Given the description of an element on the screen output the (x, y) to click on. 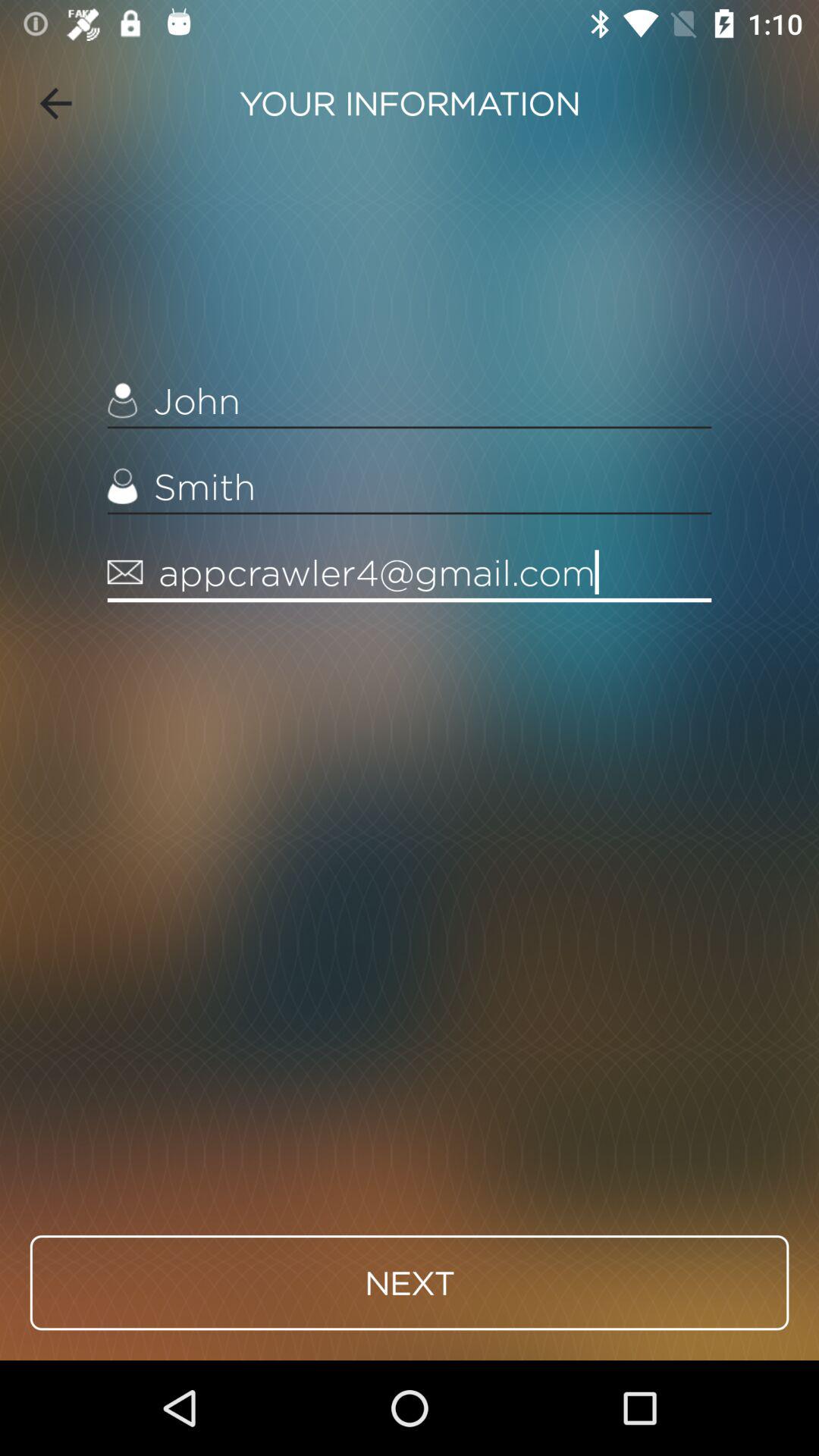
turn off appcrawler4@gmail.com item (409, 572)
